Given the description of an element on the screen output the (x, y) to click on. 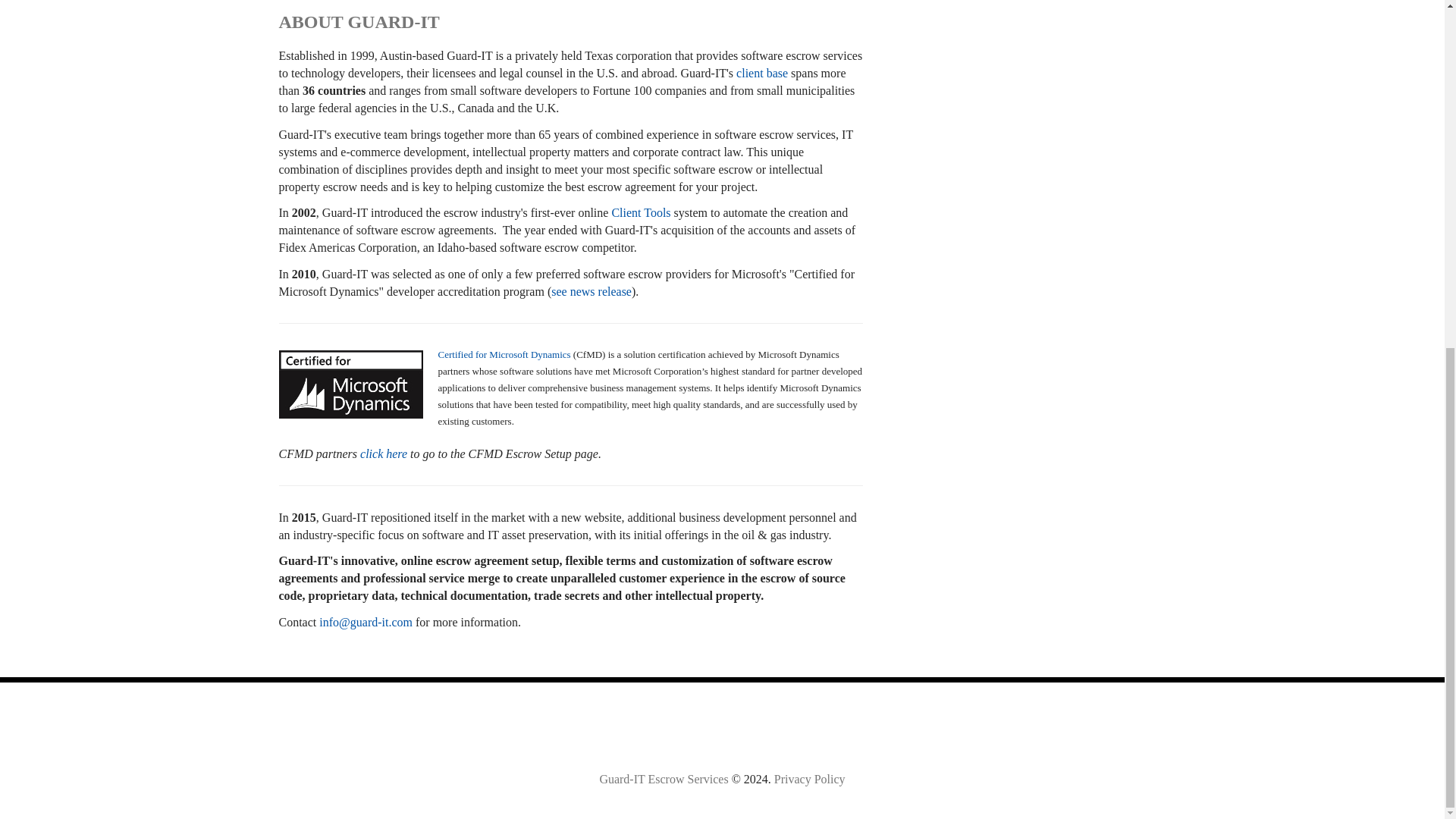
see news release (591, 290)
client base (761, 72)
Client Tools (640, 212)
Privacy Policy (809, 779)
